Given the description of an element on the screen output the (x, y) to click on. 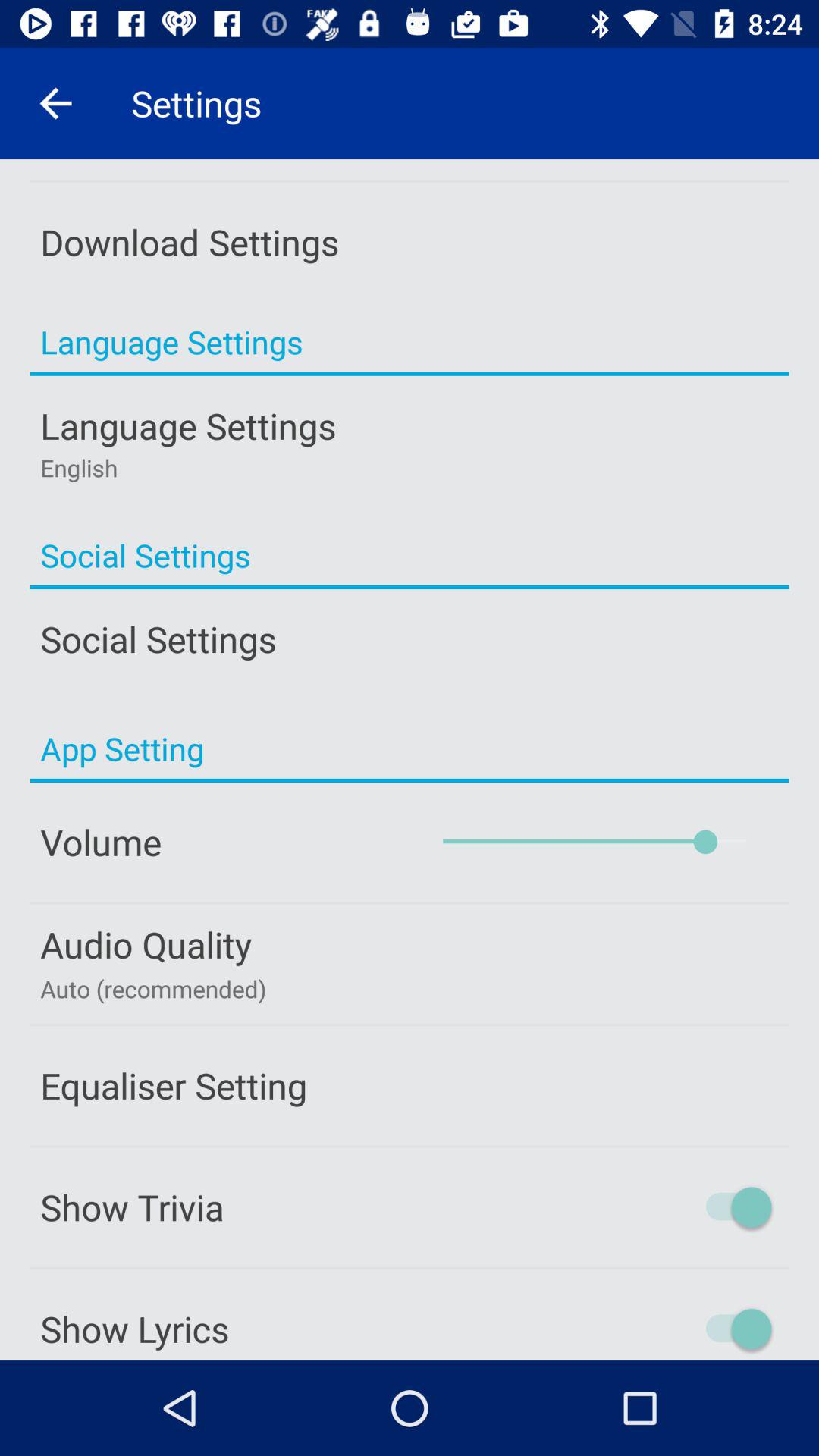
turn off icon next to settings item (55, 103)
